Given the description of an element on the screen output the (x, y) to click on. 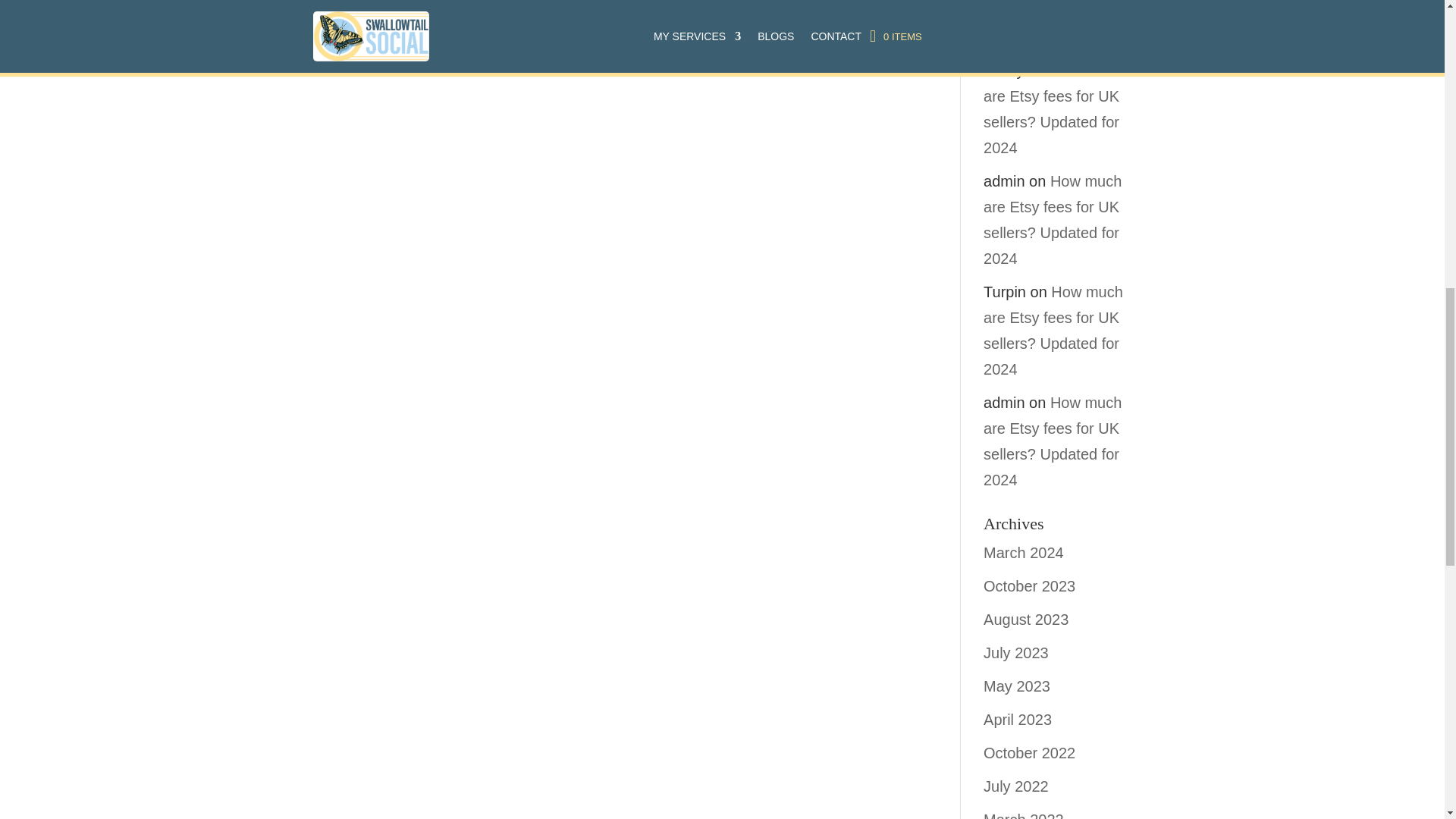
October 2022 (1029, 752)
March 2024 (1024, 552)
How much are Etsy fees for UK sellers? Updated for 2024 (1053, 330)
How much are Etsy fees for UK sellers? Updated for 2024 (1052, 109)
April 2023 (1017, 719)
How much are Etsy fees for UK sellers? Updated for 2024 (1052, 440)
May 2023 (1016, 686)
October 2023 (1029, 586)
July 2023 (1016, 652)
August 2023 (1026, 619)
